Given the description of an element on the screen output the (x, y) to click on. 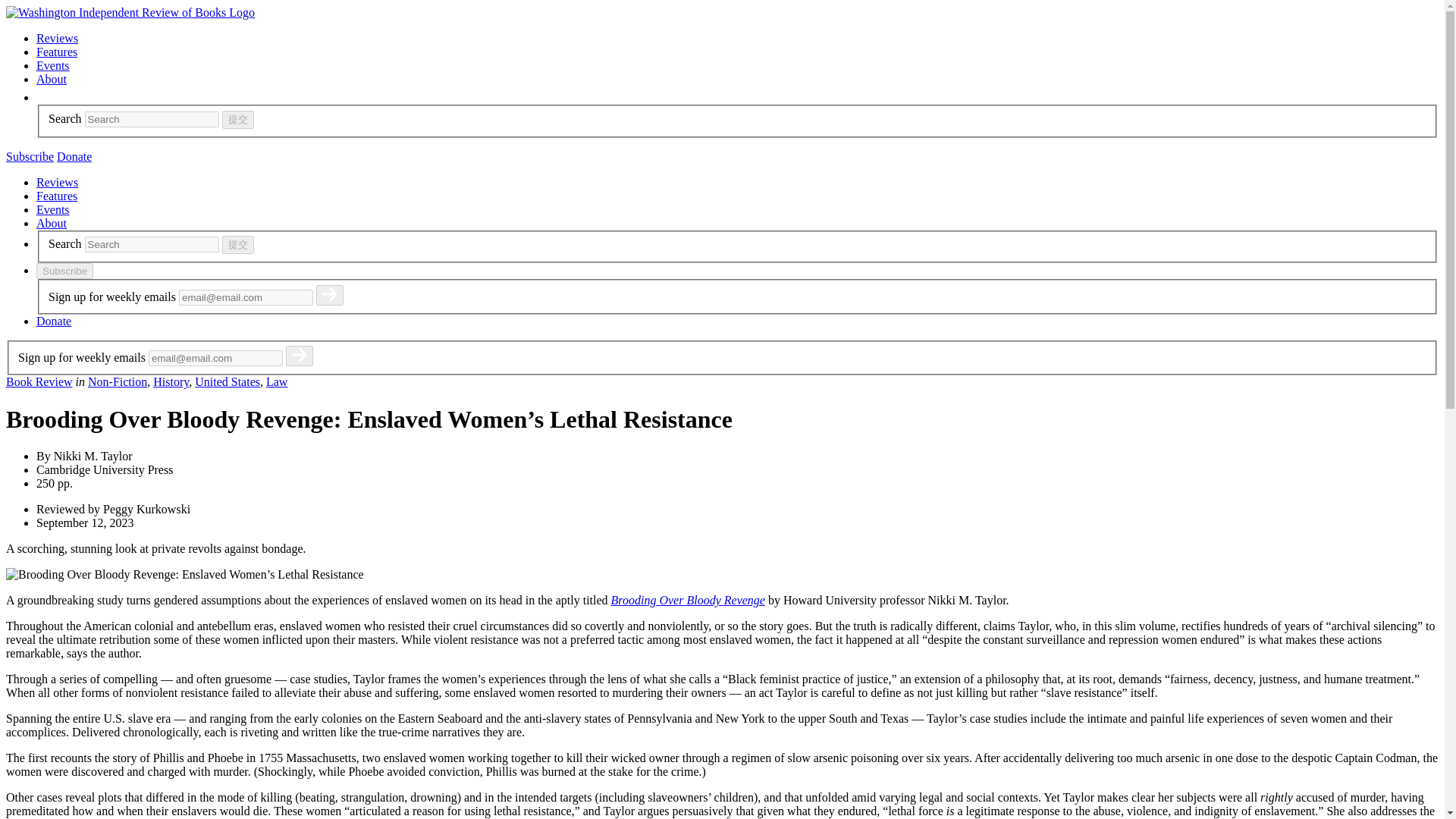
Events (52, 65)
About (51, 78)
Non-Fiction (117, 381)
Events (52, 209)
About (51, 223)
Donate (73, 155)
Features (56, 51)
United States (227, 381)
History (170, 381)
Subscribe (64, 270)
Features (56, 195)
Reviews (57, 182)
Book Review (38, 381)
Reviews (57, 38)
Subscribe (29, 155)
